Given the description of an element on the screen output the (x, y) to click on. 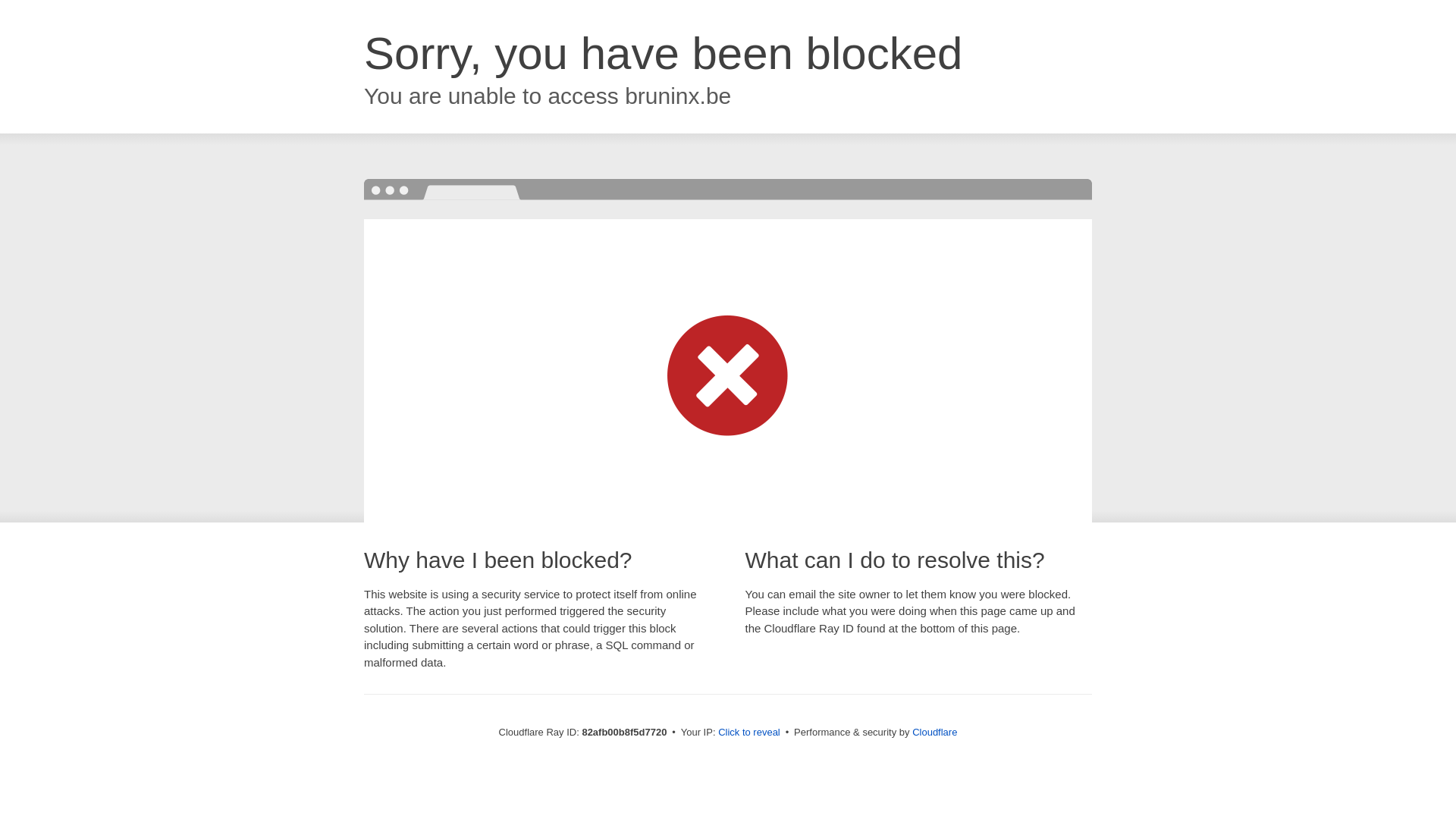
Cloudflare Element type: text (934, 731)
Click to reveal Element type: text (749, 732)
